Given the description of an element on the screen output the (x, y) to click on. 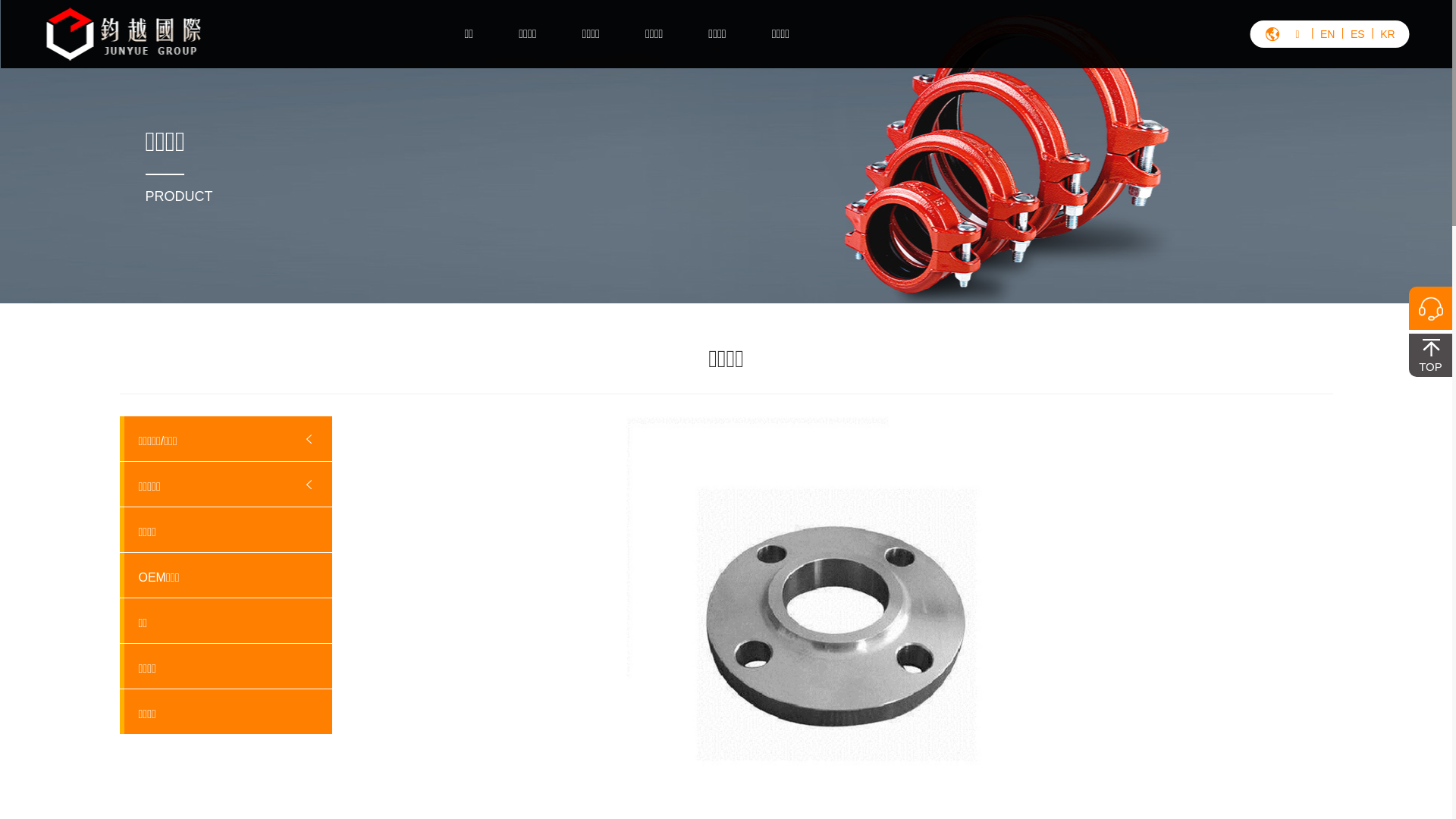
ENTER Element type: text (1374, 85)
EN Element type: text (1327, 33)
KR Element type: text (1387, 33)
ES Element type: text (1357, 33)
